Given the description of an element on the screen output the (x, y) to click on. 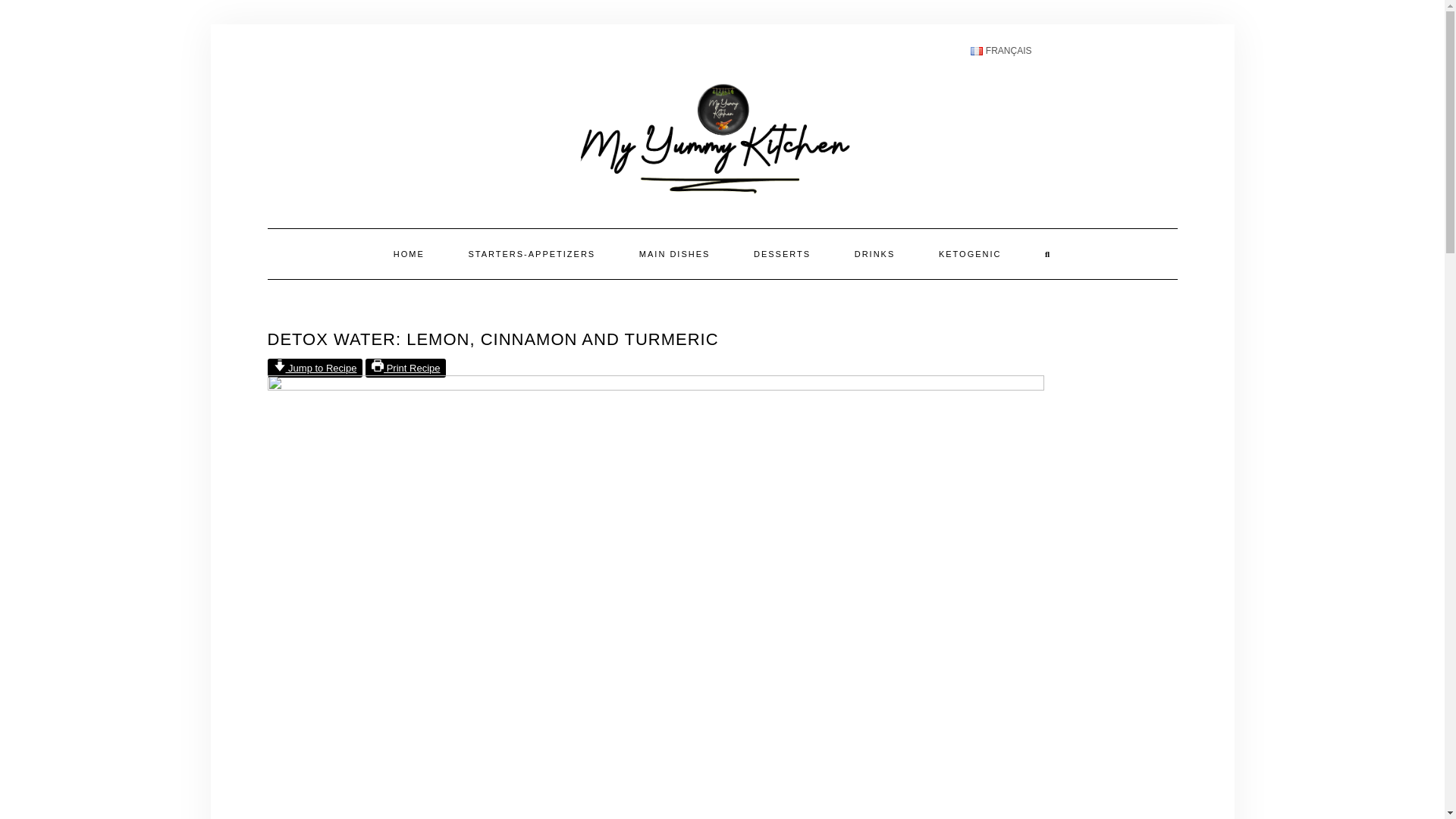
Instagram (1085, 52)
DRINKS (874, 254)
HOME (408, 254)
KETOGENIC (970, 254)
Jump to Recipe (314, 367)
Print Recipe (405, 367)
MAIN DISHES (674, 254)
Instagram (1086, 52)
Facebook (1048, 52)
YouTube (1158, 52)
YouTube (1159, 52)
STARTERS-APPETIZERS (530, 254)
Facebook (1050, 52)
Twitter (1122, 52)
Twitter (1121, 52)
